Given the description of an element on the screen output the (x, y) to click on. 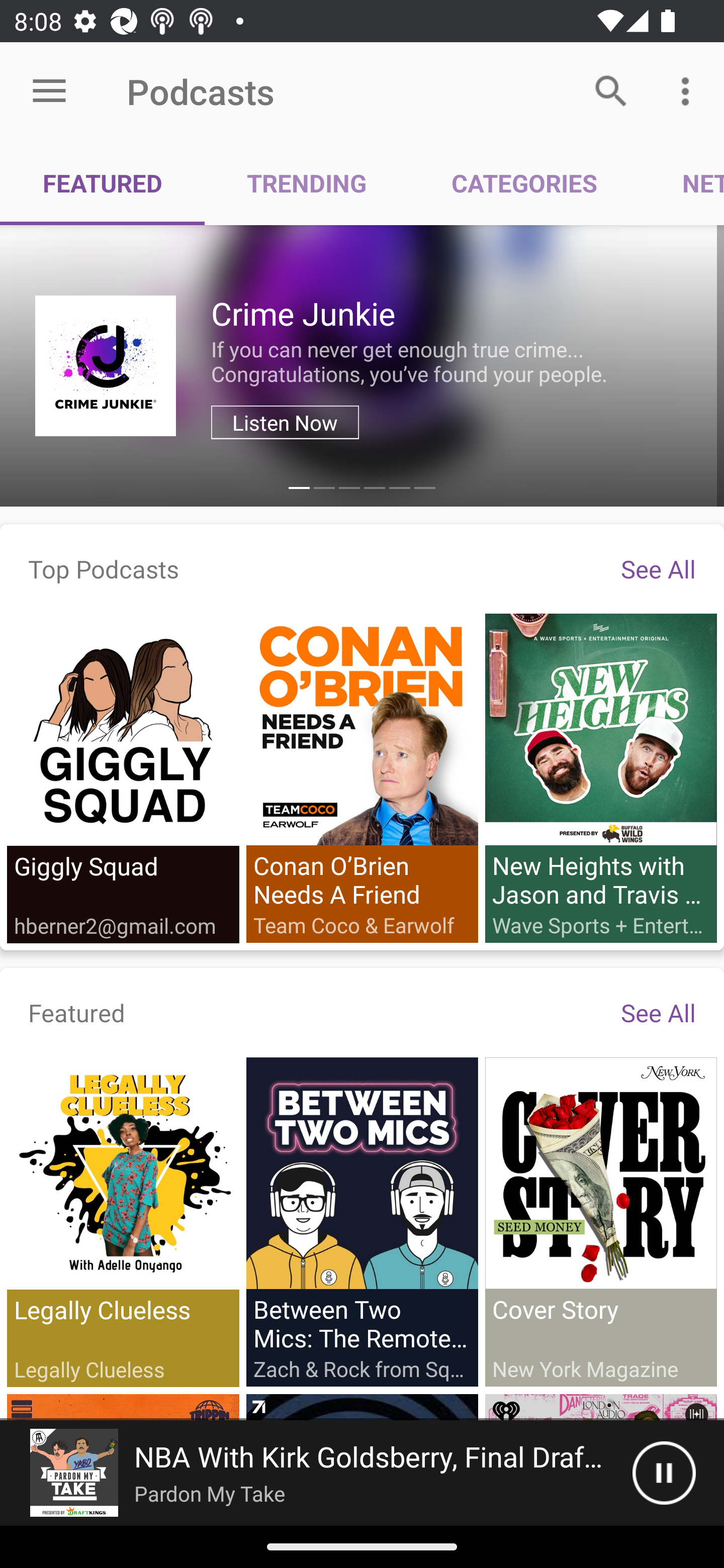
Open menu (49, 91)
Search (611, 90)
More options (688, 90)
FEATURED (102, 183)
TRENDING (306, 183)
CATEGORIES (524, 183)
Top Podcasts (103, 567)
See All (658, 567)
Giggly Squad hberner2@gmail.com (123, 778)
Conan O’Brien Needs A Friend Team Coco & Earwolf (361, 777)
Featured (76, 1011)
See All (658, 1011)
Legally Clueless (123, 1221)
Cover Story New York Magazine (600, 1221)
Pause (663, 1472)
